Given the description of an element on the screen output the (x, y) to click on. 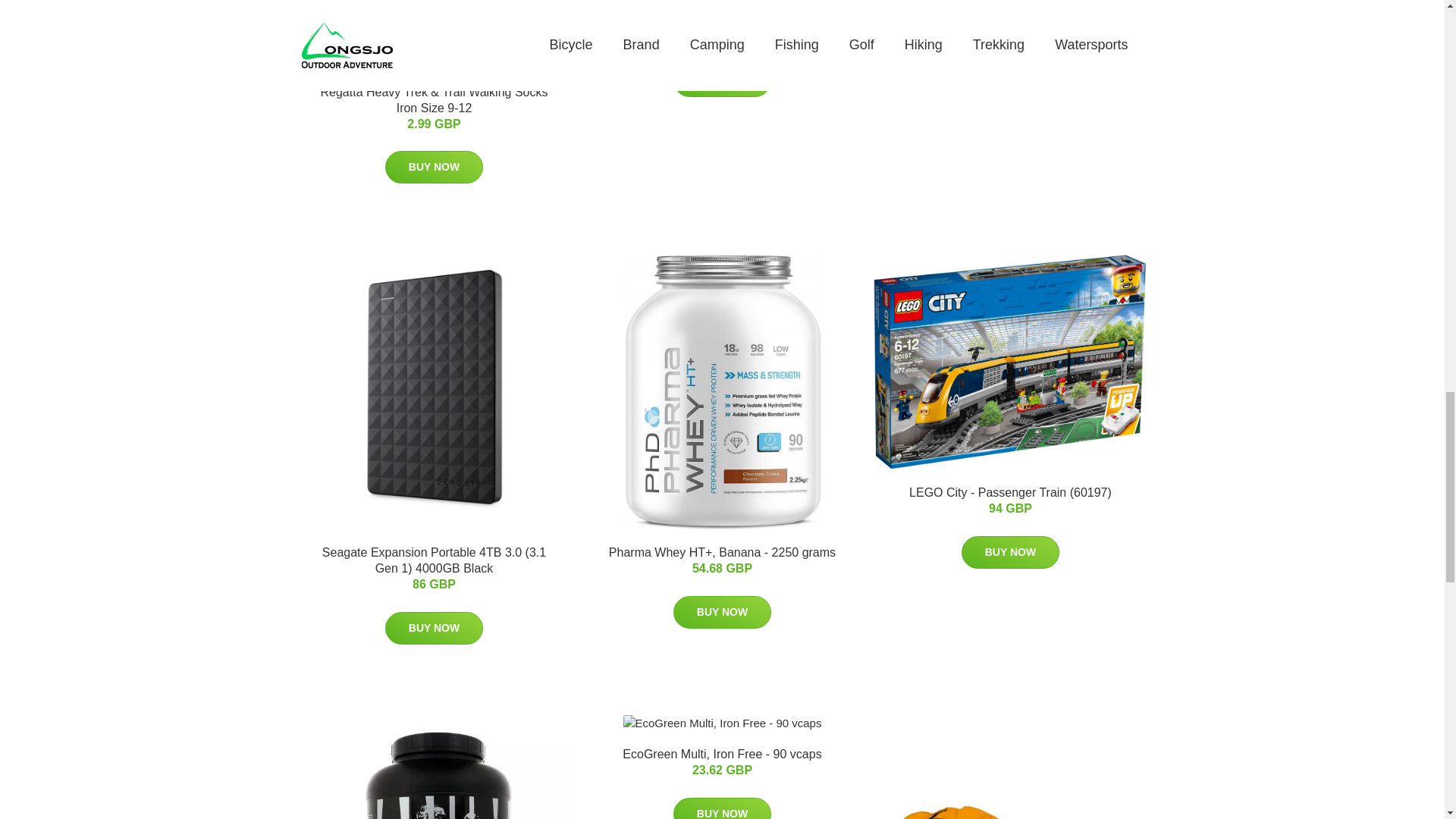
BUY NOW (721, 612)
BUY NOW (434, 627)
BUY NOW (721, 808)
BUY NOW (721, 80)
HyperAmino, Pink Lemonade - 300 grams (722, 20)
EcoGreen Multi, Iron Free - 90 vcaps (722, 753)
BUY NOW (1009, 551)
BUY NOW (434, 166)
